Given the description of an element on the screen output the (x, y) to click on. 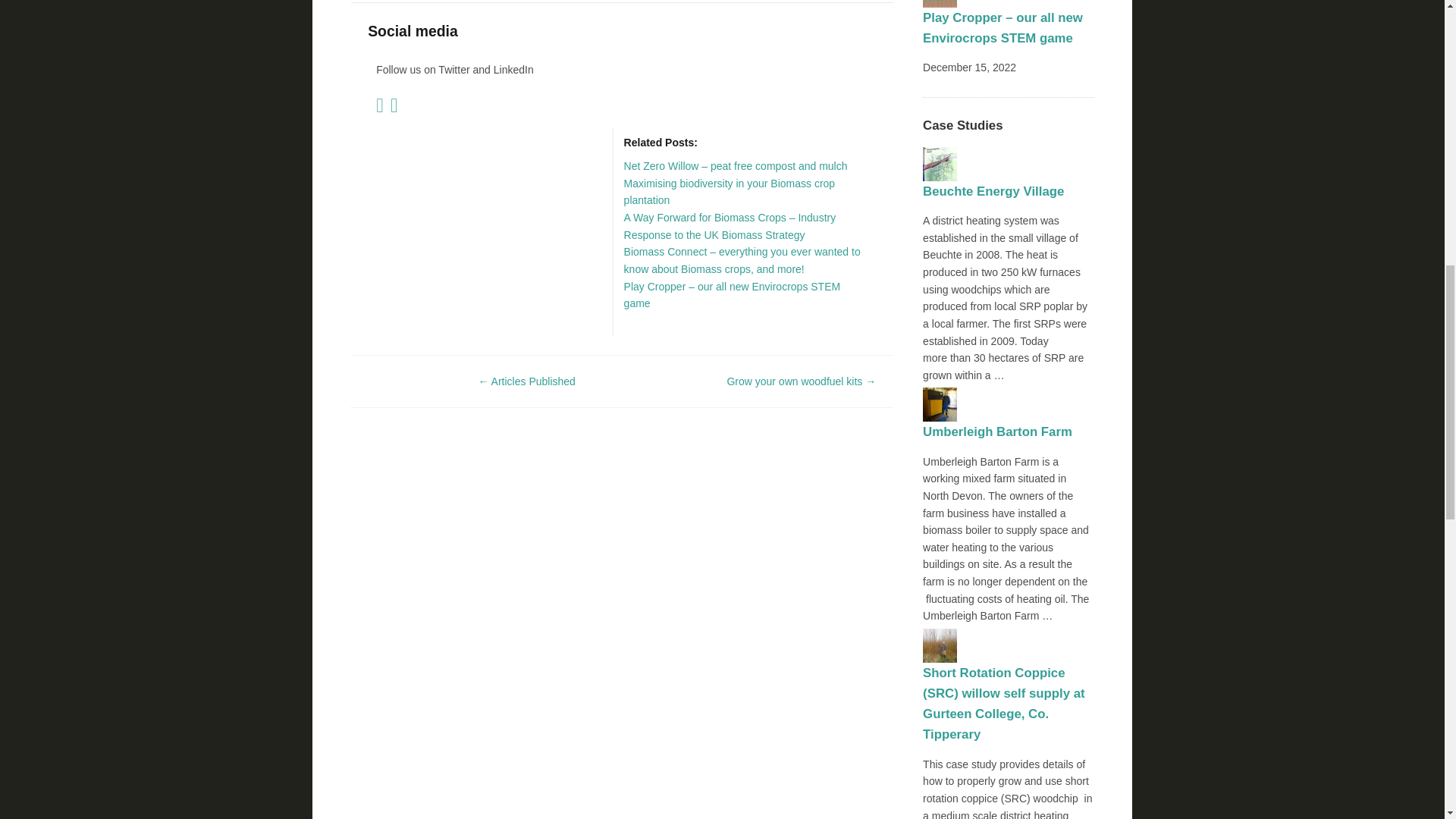
Twitter (381, 108)
LinkedIn (395, 108)
Maximising biodiversity in your Biomass crop plantation (729, 192)
